Given the description of an element on the screen output the (x, y) to click on. 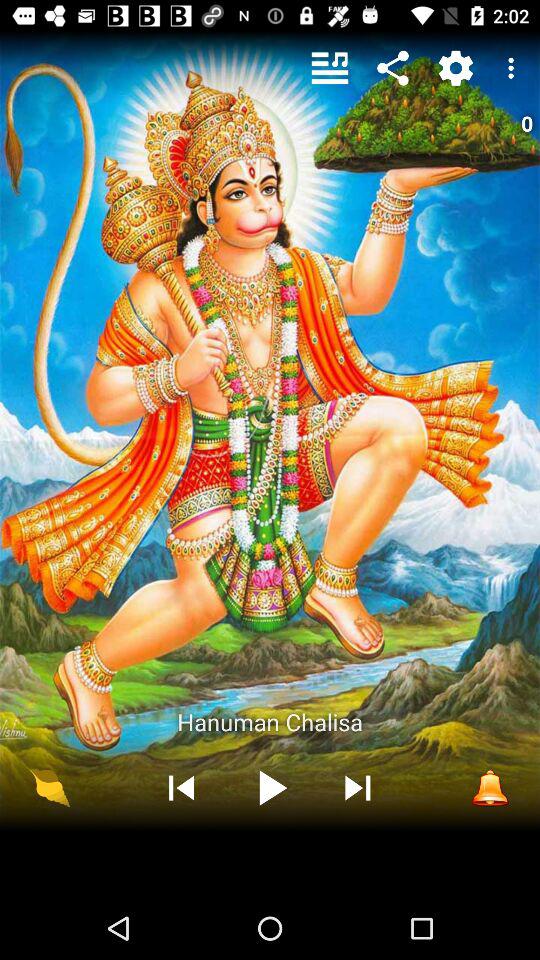
launch the item below the hanuman chalisa icon (269, 787)
